Given the description of an element on the screen output the (x, y) to click on. 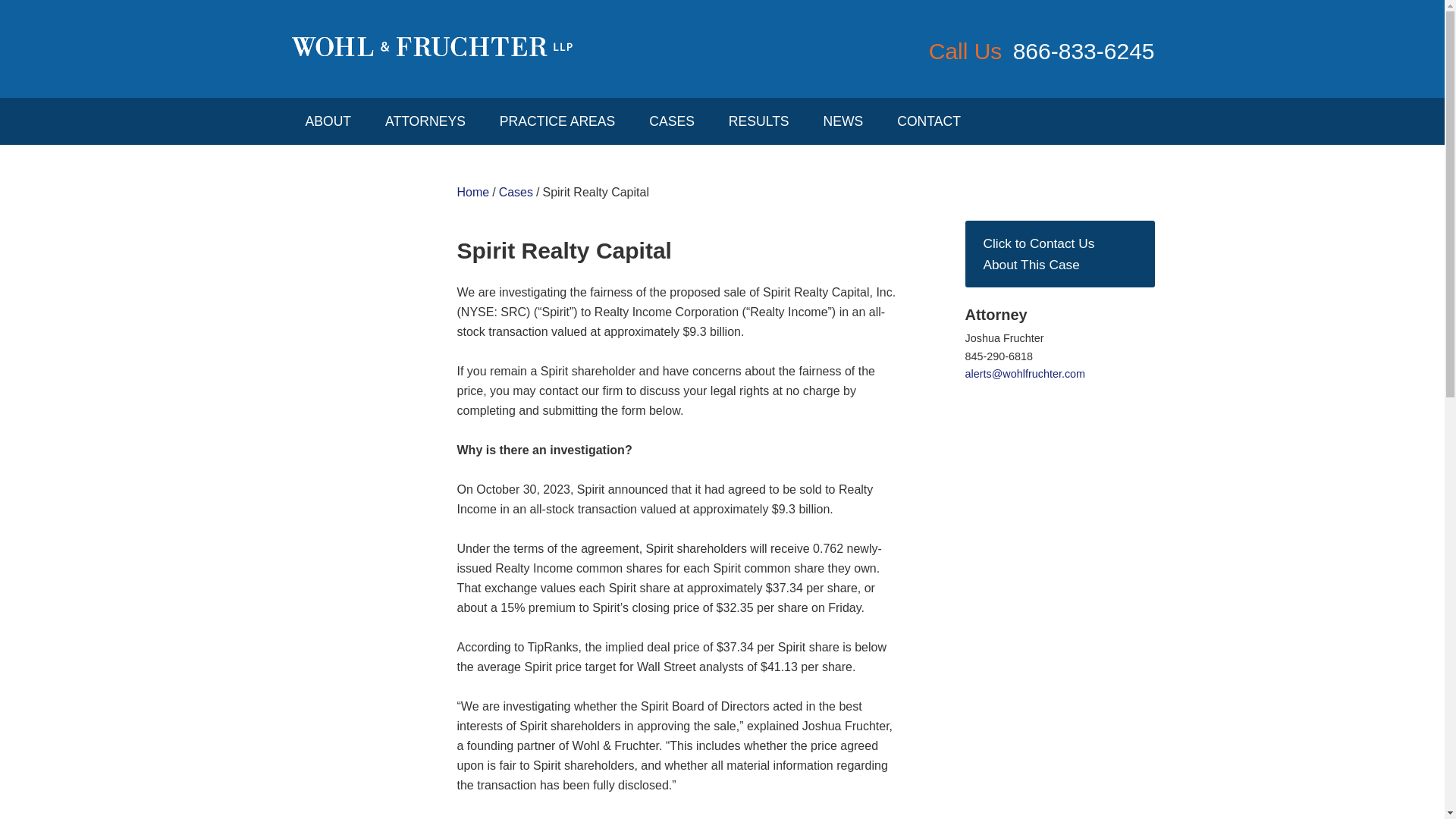
ATTORNEYS (424, 120)
ABOUT (327, 120)
Home (473, 192)
NEWS (843, 120)
CONTACT (928, 120)
PRACTICE AREAS (557, 120)
RESULTS (759, 120)
Cases (515, 192)
CASES (671, 120)
Click to Contact Us About This Case (1058, 253)
